Given the description of an element on the screen output the (x, y) to click on. 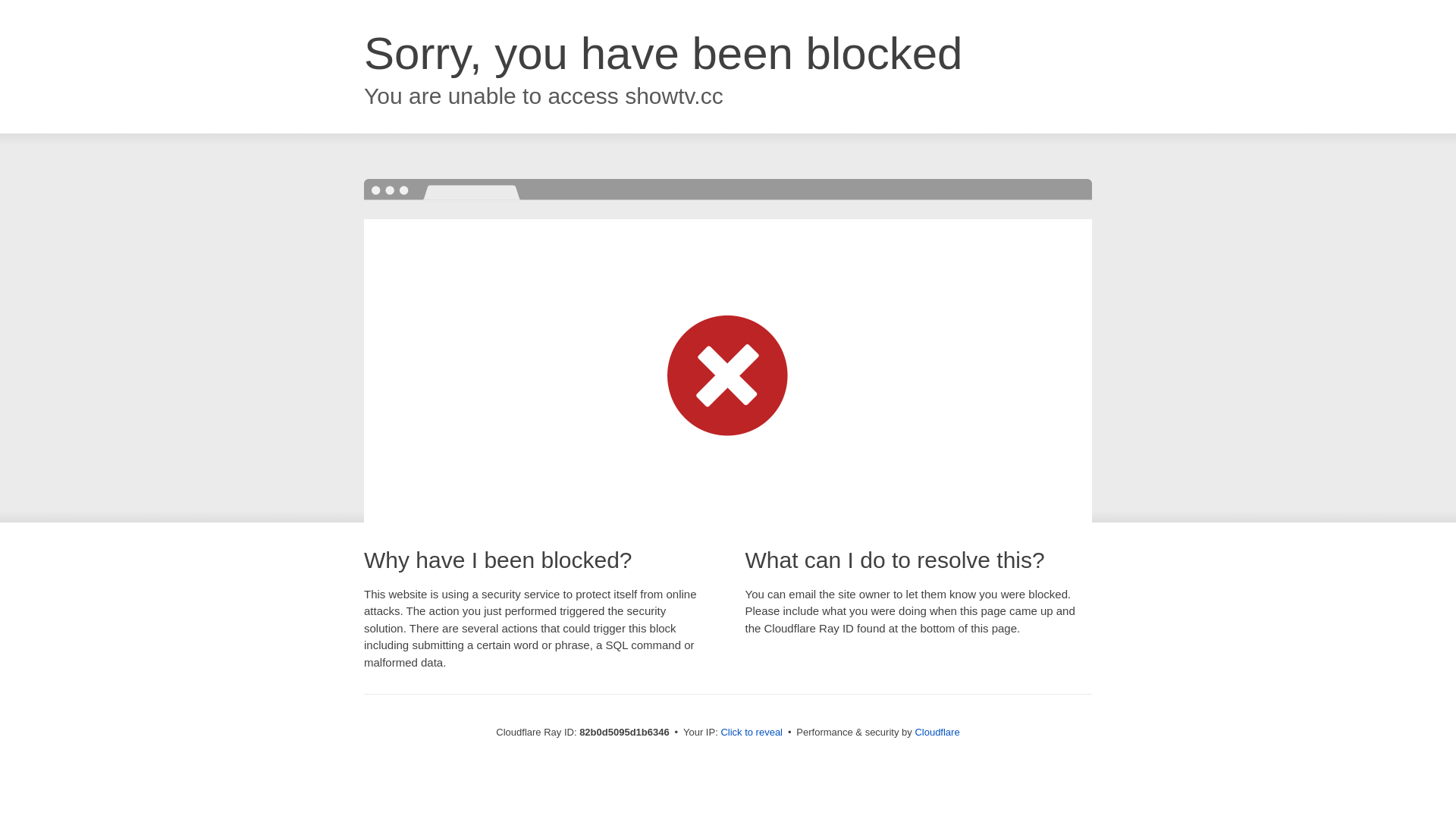
Cloudflare Element type: text (936, 731)
Click to reveal Element type: text (751, 732)
